Given the description of an element on the screen output the (x, y) to click on. 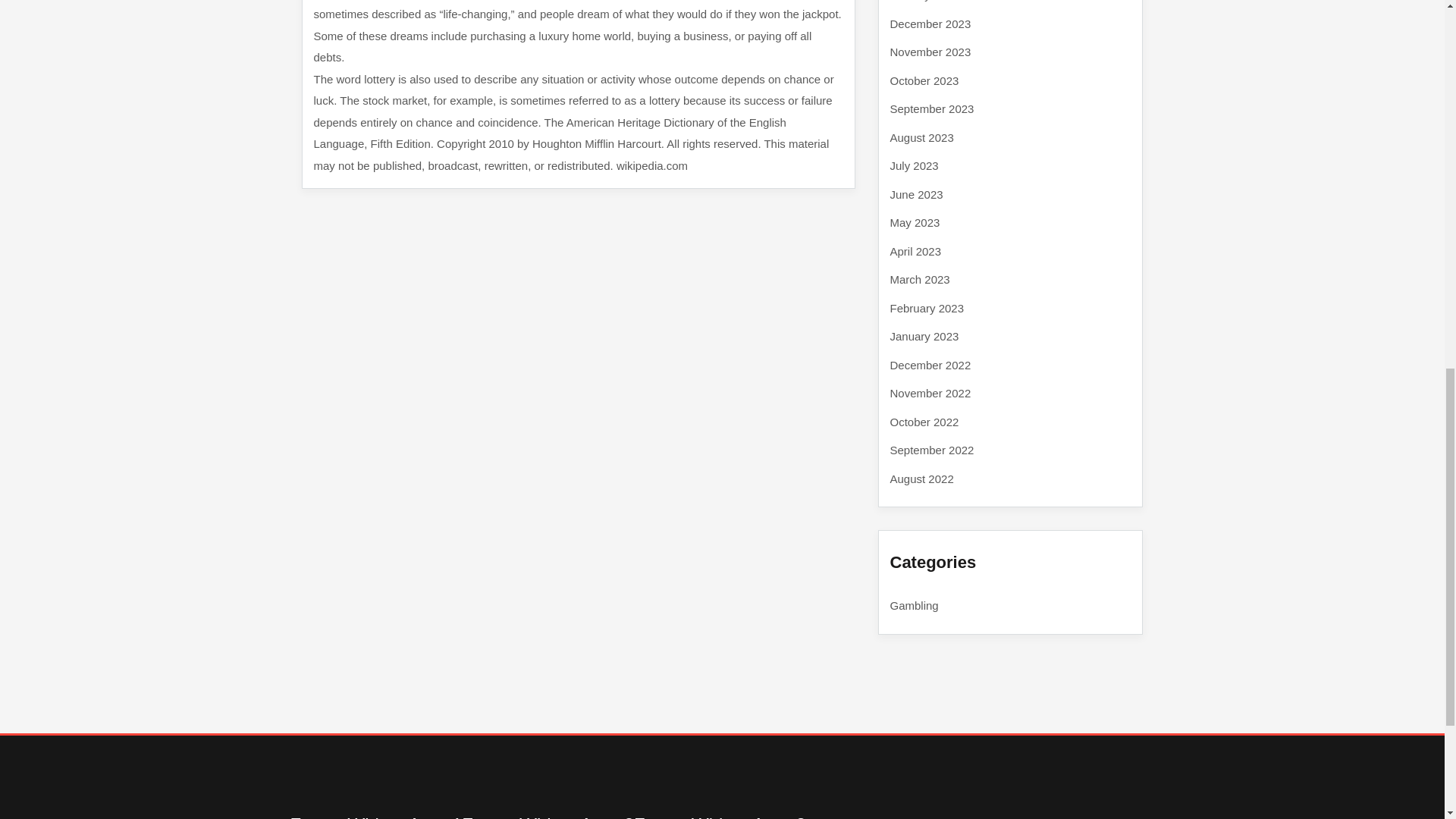
July 2023 (914, 164)
December 2022 (930, 364)
October 2023 (924, 80)
February 2023 (926, 308)
January 2023 (924, 336)
November 2023 (930, 51)
September 2023 (931, 108)
June 2023 (916, 194)
November 2022 (930, 392)
October 2022 (924, 421)
May 2023 (914, 222)
January 2024 (924, 0)
September 2022 (931, 449)
April 2023 (915, 250)
March 2023 (919, 278)
